Given the description of an element on the screen output the (x, y) to click on. 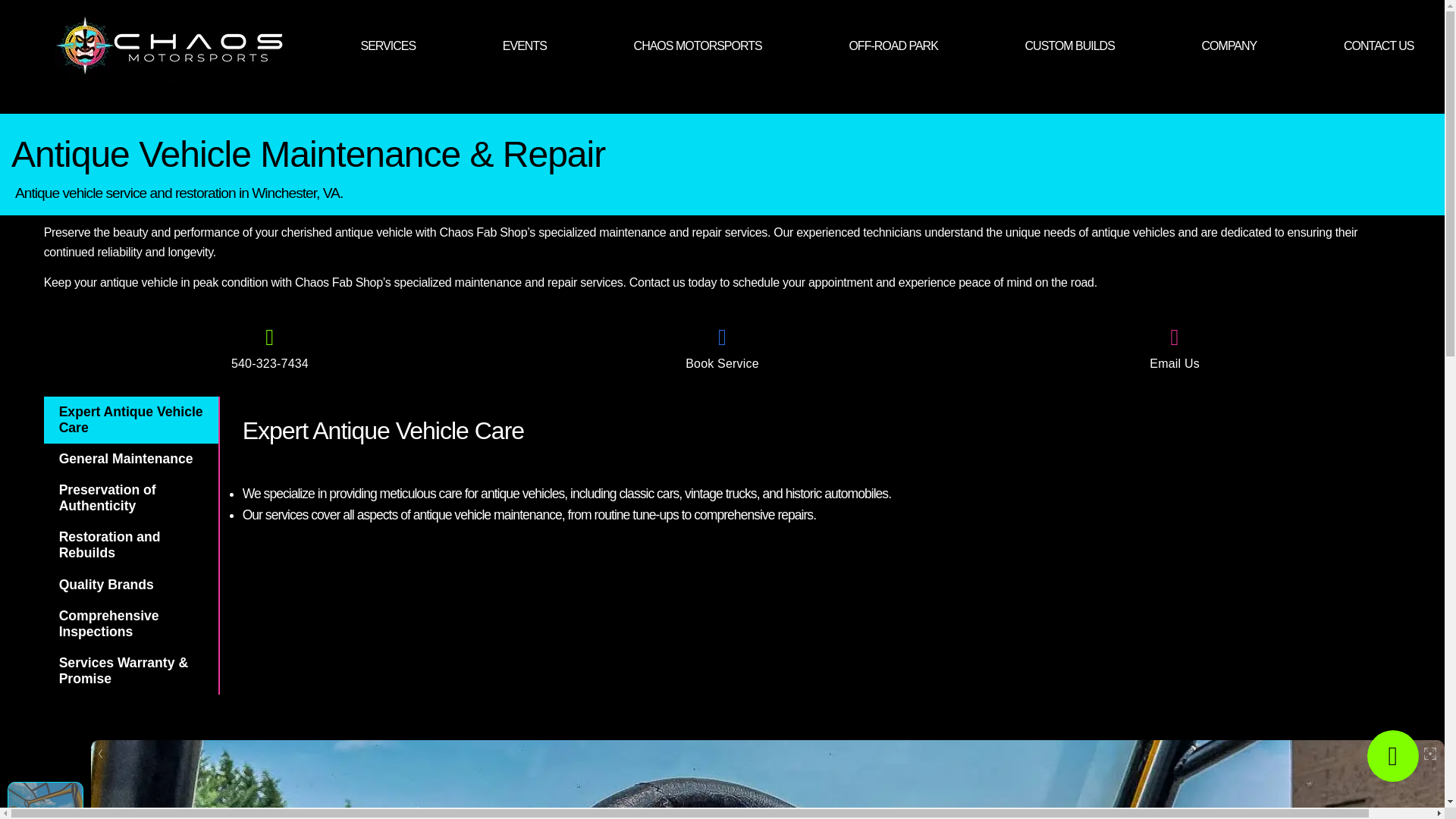
CUSTOM BUILDS (1069, 44)
CHAOS MOTORSPORTS (696, 44)
Chaos Motorsports (696, 44)
OFF-ROAD PARK (893, 44)
Chaos Fab Shop Custom Vehicles (1069, 44)
EVENTS (524, 44)
COMPANY (1229, 44)
Chaos Off-Road Park (893, 44)
SERVICES (387, 44)
Chaos Motorsports Events (524, 44)
